Given the description of an element on the screen output the (x, y) to click on. 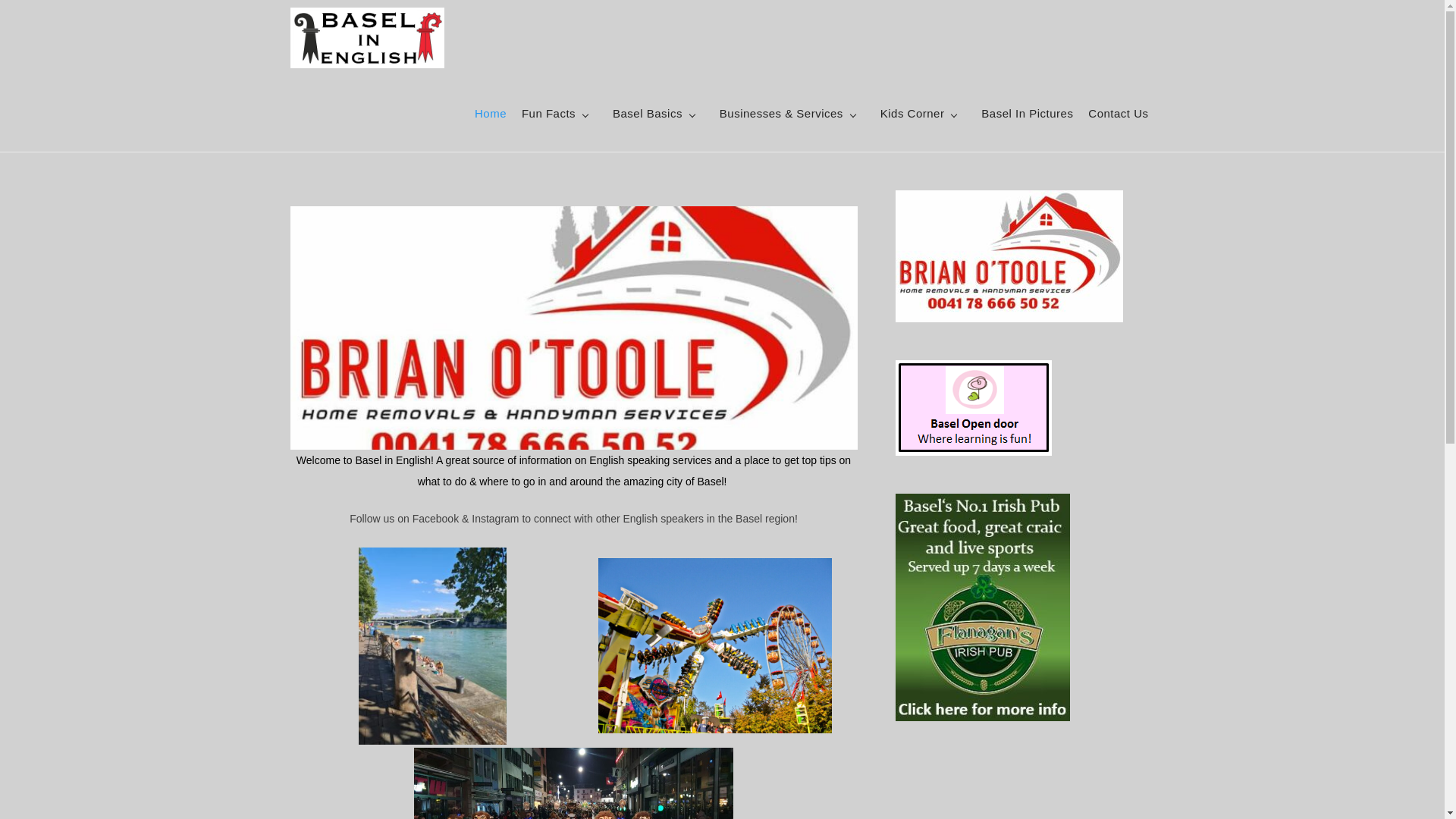
Fun Facts Element type: text (554, 113)
Home Element type: text (490, 113)
Businesses & Services Element type: text (787, 113)
IMG-20231114-WA0003 Element type: hover (572, 327)
Basel in English Element type: text (525, 48)
Contact Us Element type: text (1118, 113)
Basel In Pictures Element type: text (1027, 113)
Basel Basics Element type: text (653, 113)
Kids Corner Element type: text (918, 113)
